Given the description of an element on the screen output the (x, y) to click on. 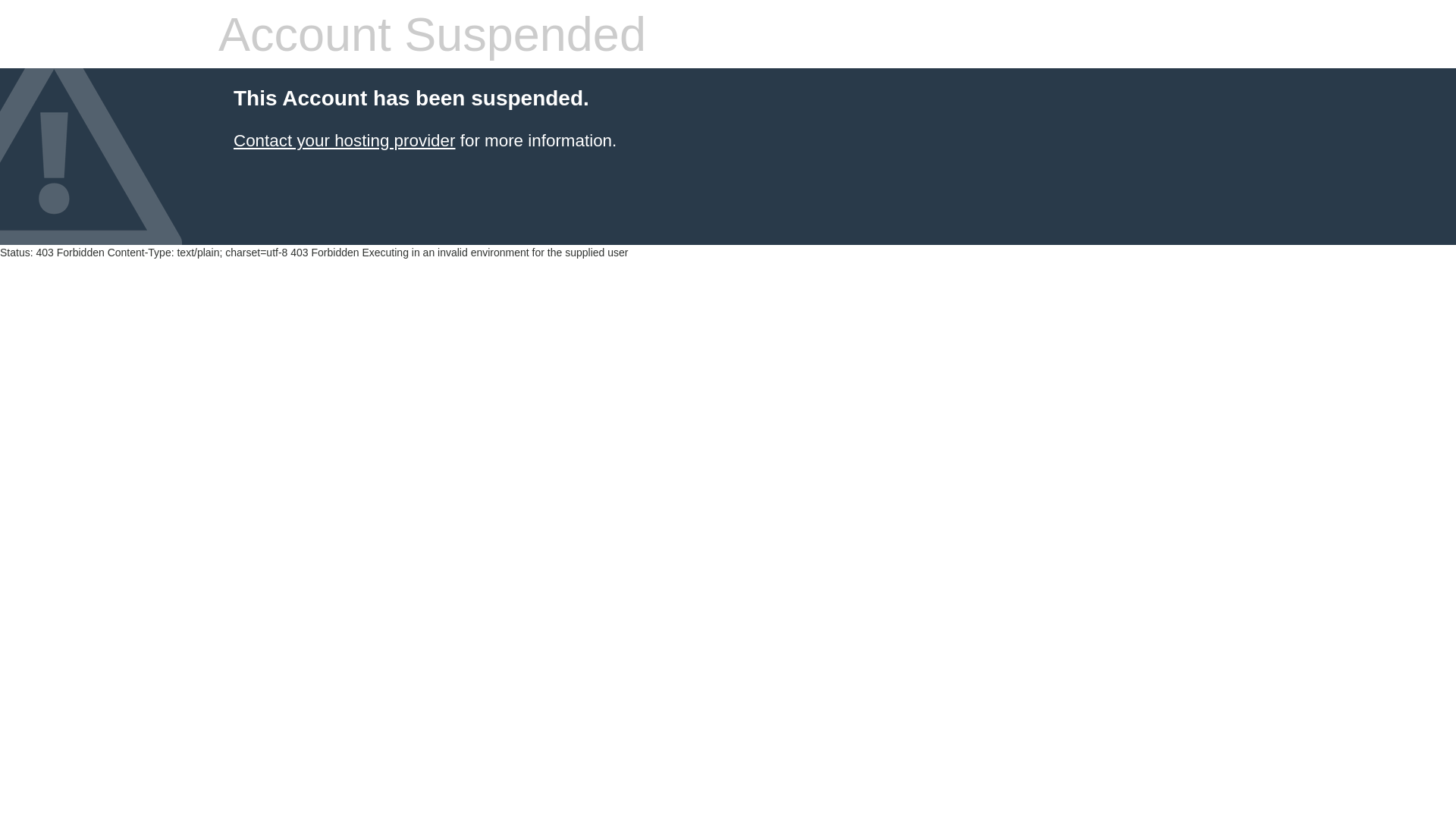
Contact your hosting provider Element type: text (344, 140)
